Given the description of an element on the screen output the (x, y) to click on. 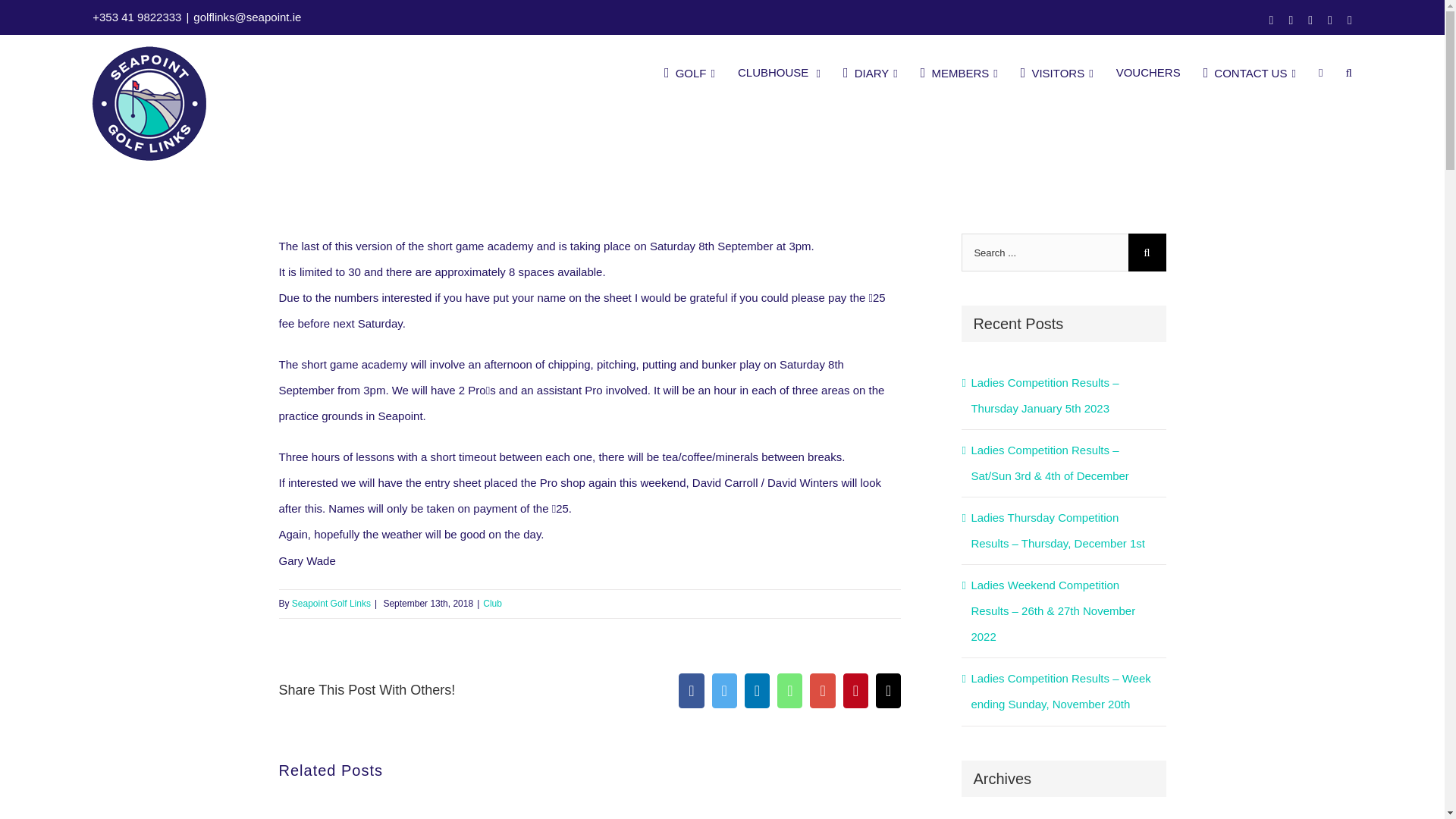
CLUBHOUSE (779, 72)
CONTACT US (1249, 72)
VISITORS (1056, 72)
Posts by Seapoint Golf Links (331, 603)
Seapoint Golf Links Logo (149, 102)
MEMBERS (958, 72)
